Given the description of an element on the screen output the (x, y) to click on. 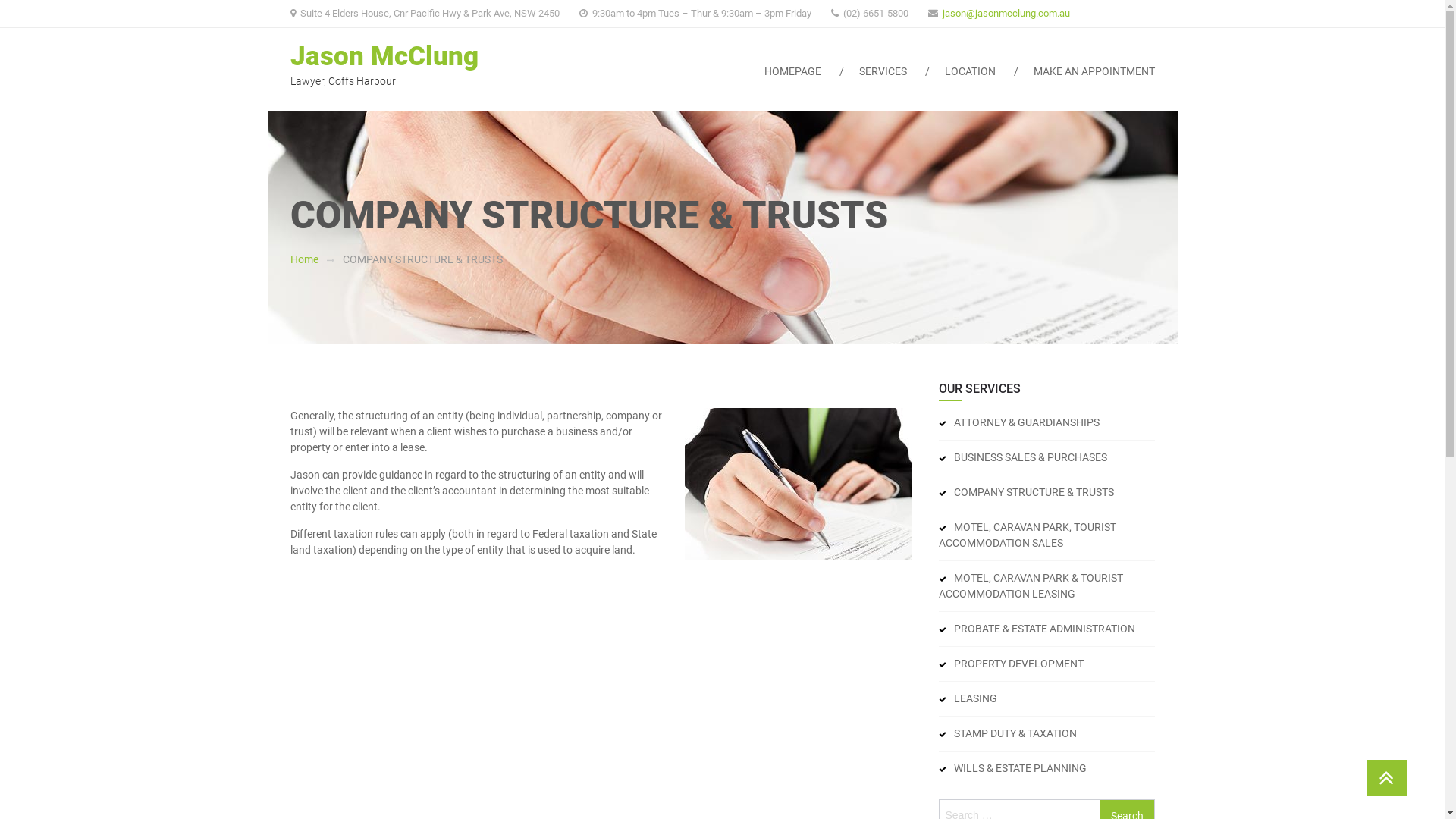
COMPANY STRUCTURE & TRUSTS Element type: text (1025, 492)
LEASING Element type: text (967, 698)
Skip to navigation Element type: text (0, 0)
MAKE AN APPOINTMENT Element type: text (1084, 82)
SERVICES Element type: text (882, 82)
HOMEPAGE Element type: text (791, 82)
BUSINESS SALES & PURCHASES Element type: text (1022, 457)
ATTORNEY & GUARDIANSHIPS Element type: text (1018, 422)
LOCATION Element type: text (969, 82)
PROBATE & ESTATE ADMINISTRATION Element type: text (1036, 629)
PROPERTY DEVELOPMENT Element type: text (1010, 663)
MOTEL, CARAVAN PARK, TOURIST ACCOMMODATION SALES Element type: text (1046, 535)
jason@jasonmcclung.com.au Element type: text (1005, 12)
Home Element type: text (303, 259)
WILLS & ESTATE PLANNING Element type: text (1012, 768)
MOTEL, CARAVAN PARK & TOURIST ACCOMMODATION LEASING Element type: text (1046, 586)
Jason McClung Element type: text (383, 56)
STAMP DUTY & TAXATION Element type: text (1007, 733)
